Given the description of an element on the screen output the (x, y) to click on. 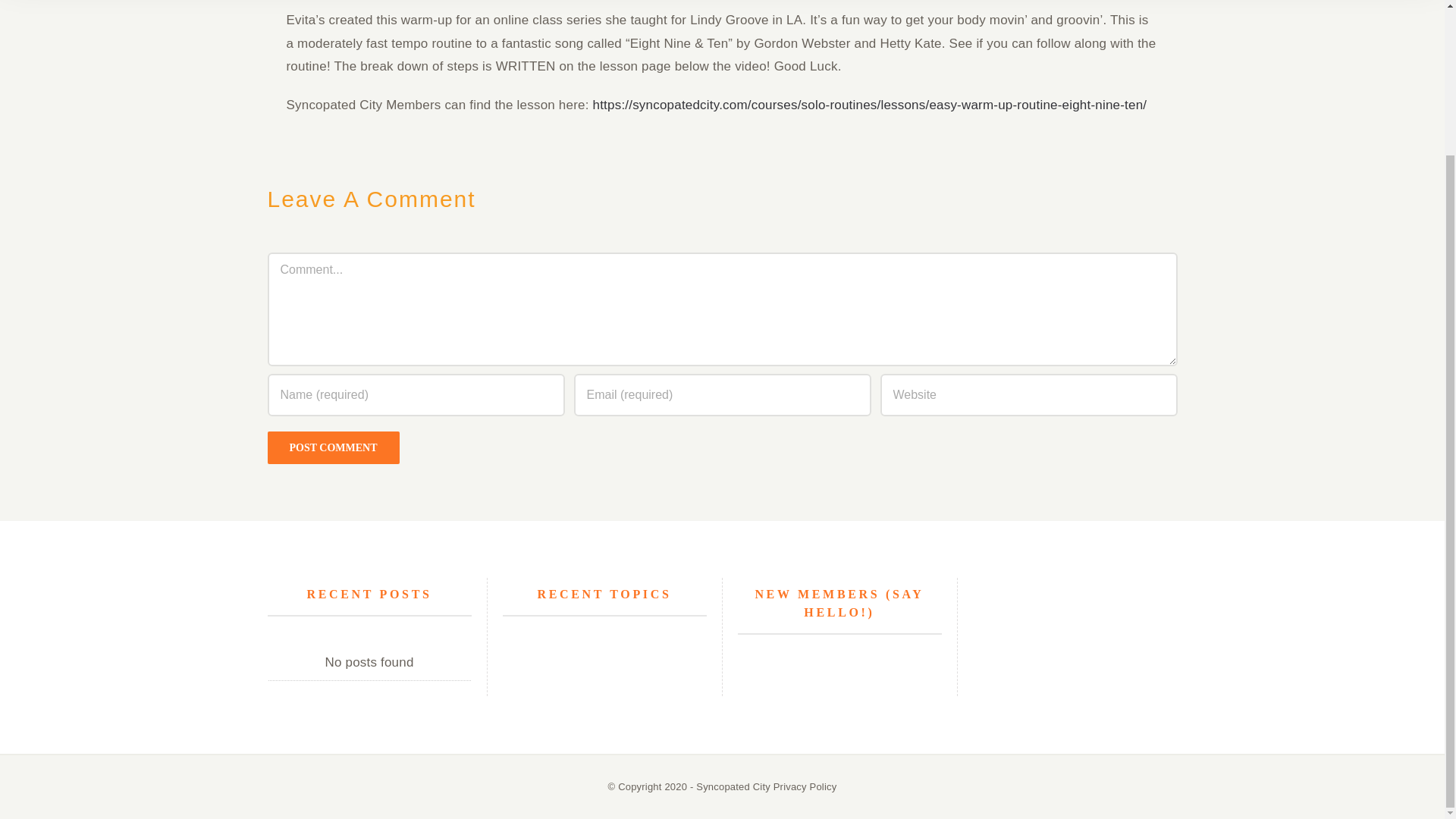
Post Comment (332, 447)
Post Comment (332, 447)
Privacy Policy (805, 786)
